Given the description of an element on the screen output the (x, y) to click on. 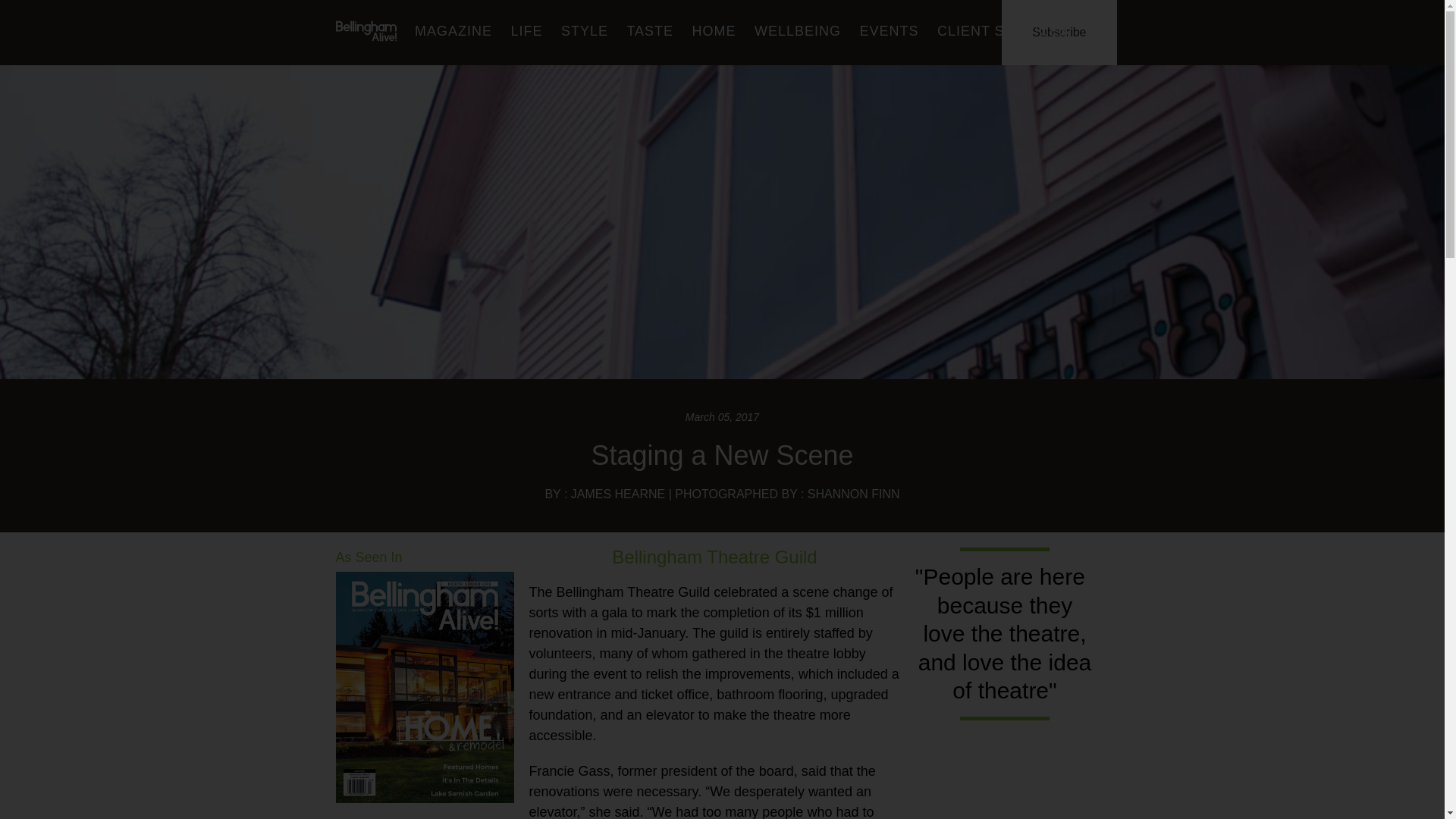
WELLBEING (797, 30)
EVENTS (888, 30)
CLIENT SERVICES (1002, 30)
Subscribe (1058, 32)
MAGAZINE (453, 30)
